Given the description of an element on the screen output the (x, y) to click on. 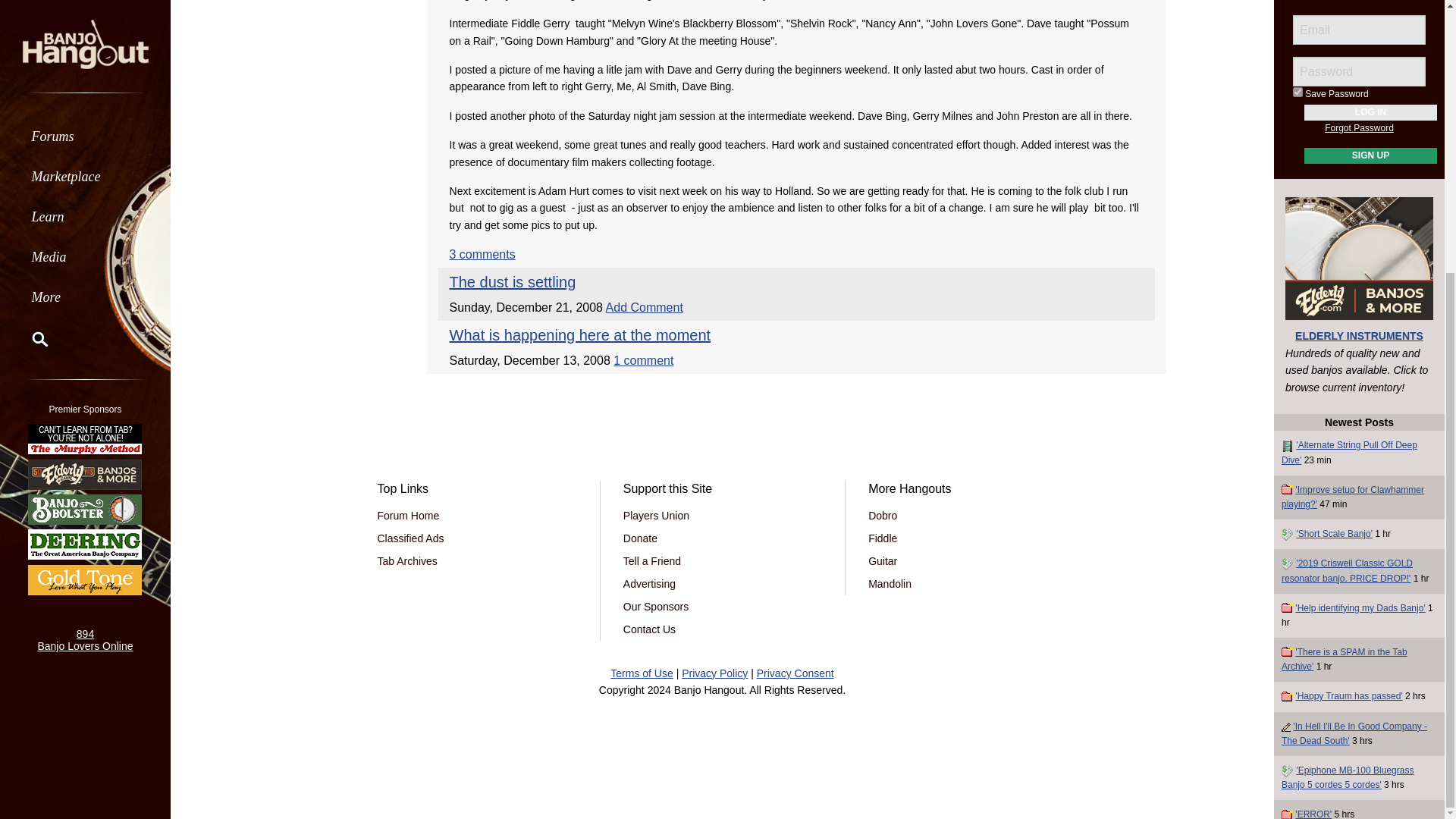
Deering Banjos (84, 143)
The Murphy Method (84, 38)
Elderly Instruments - Since 1972 (84, 73)
Banjo Bolster Tone Enhancer (84, 108)
Gold Tone (84, 179)
